Given the description of an element on the screen output the (x, y) to click on. 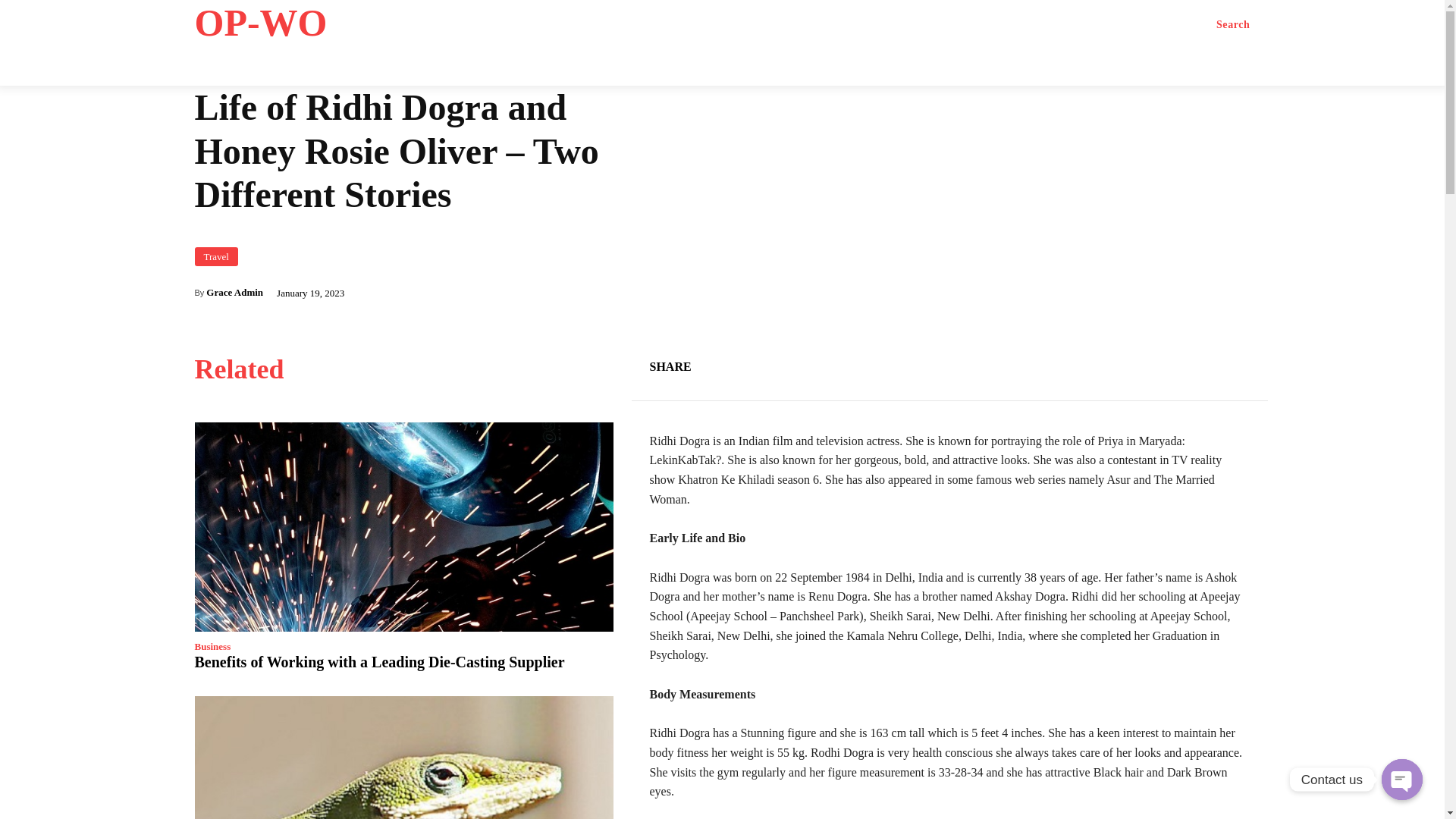
Benefits of Working with a Leading Die-Casting Supplier (402, 526)
OP-WO (311, 22)
Search (1232, 24)
Benefits of Working with a Leading Die-Casting Supplier (378, 661)
